Given the description of an element on the screen output the (x, y) to click on. 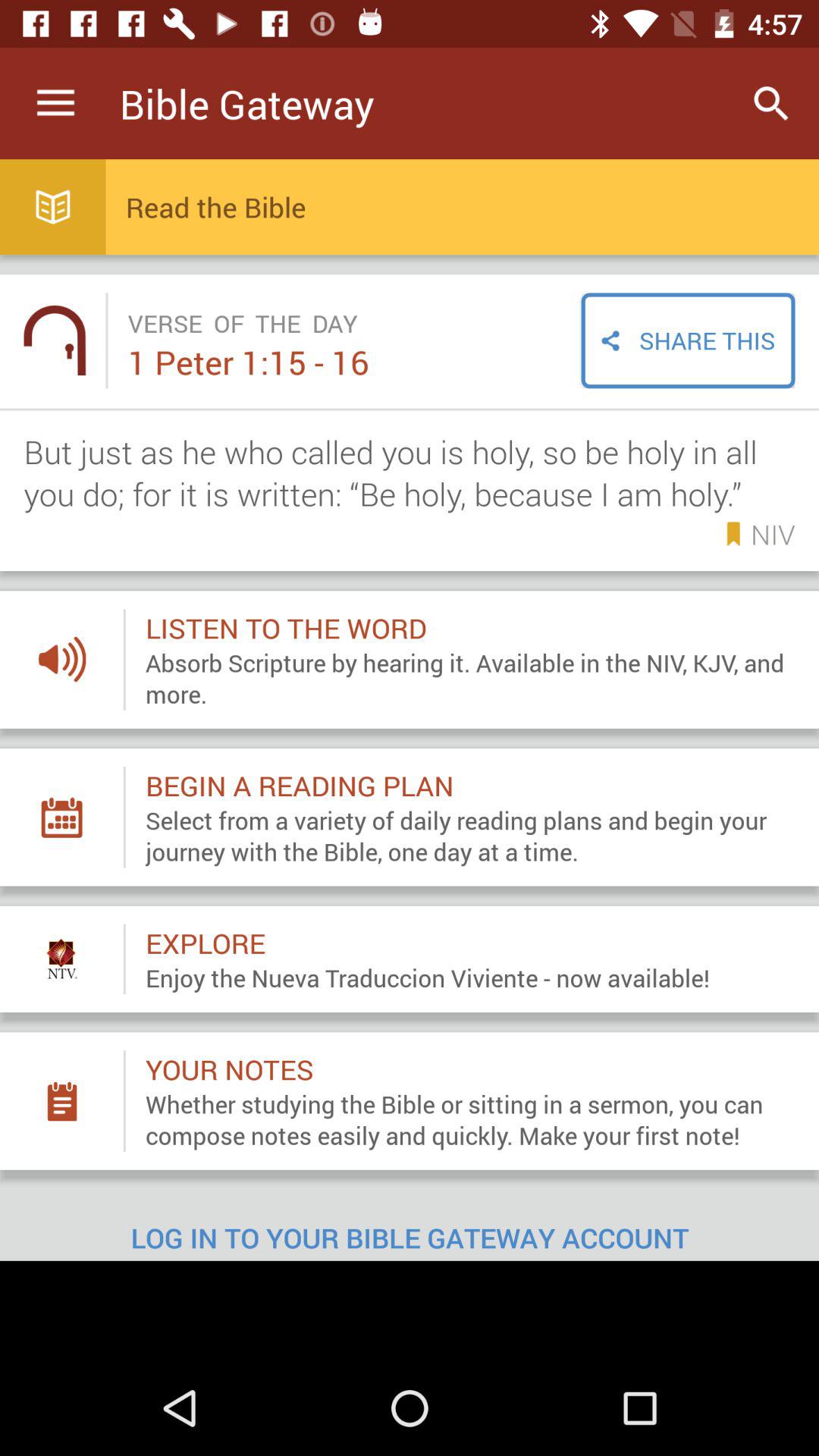
select the app to the left of the bible gateway icon (55, 103)
